Given the description of an element on the screen output the (x, y) to click on. 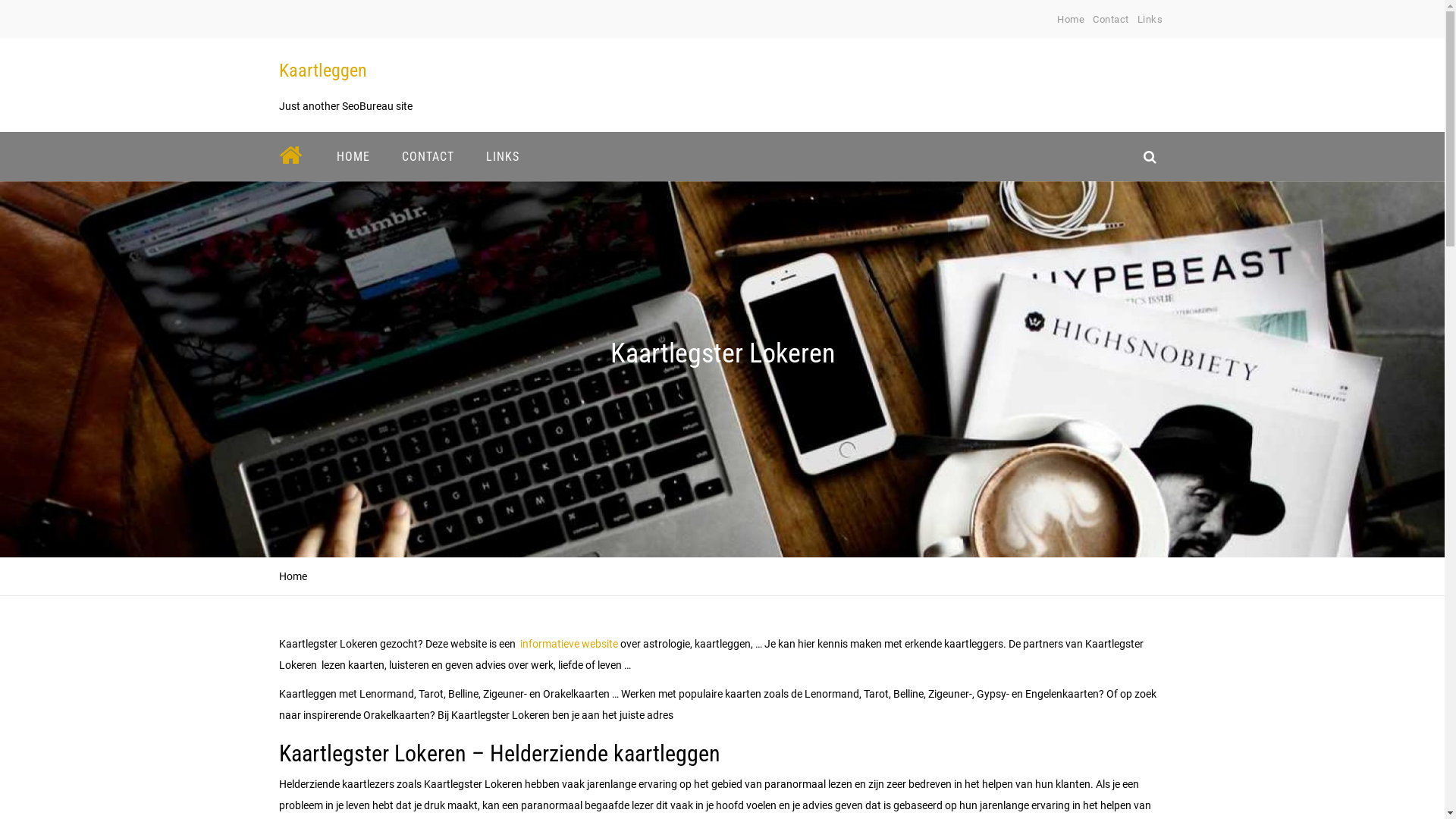
LINKS Element type: text (502, 156)
Kaartleggen Element type: text (323, 70)
Contact Element type: text (1110, 19)
HOME Element type: text (352, 156)
informatieve website Element type: text (569, 643)
Links Element type: text (1150, 19)
CONTACT Element type: text (427, 156)
search_icon Element type: hover (1148, 156)
Home Element type: text (1070, 19)
